Given the description of an element on the screen output the (x, y) to click on. 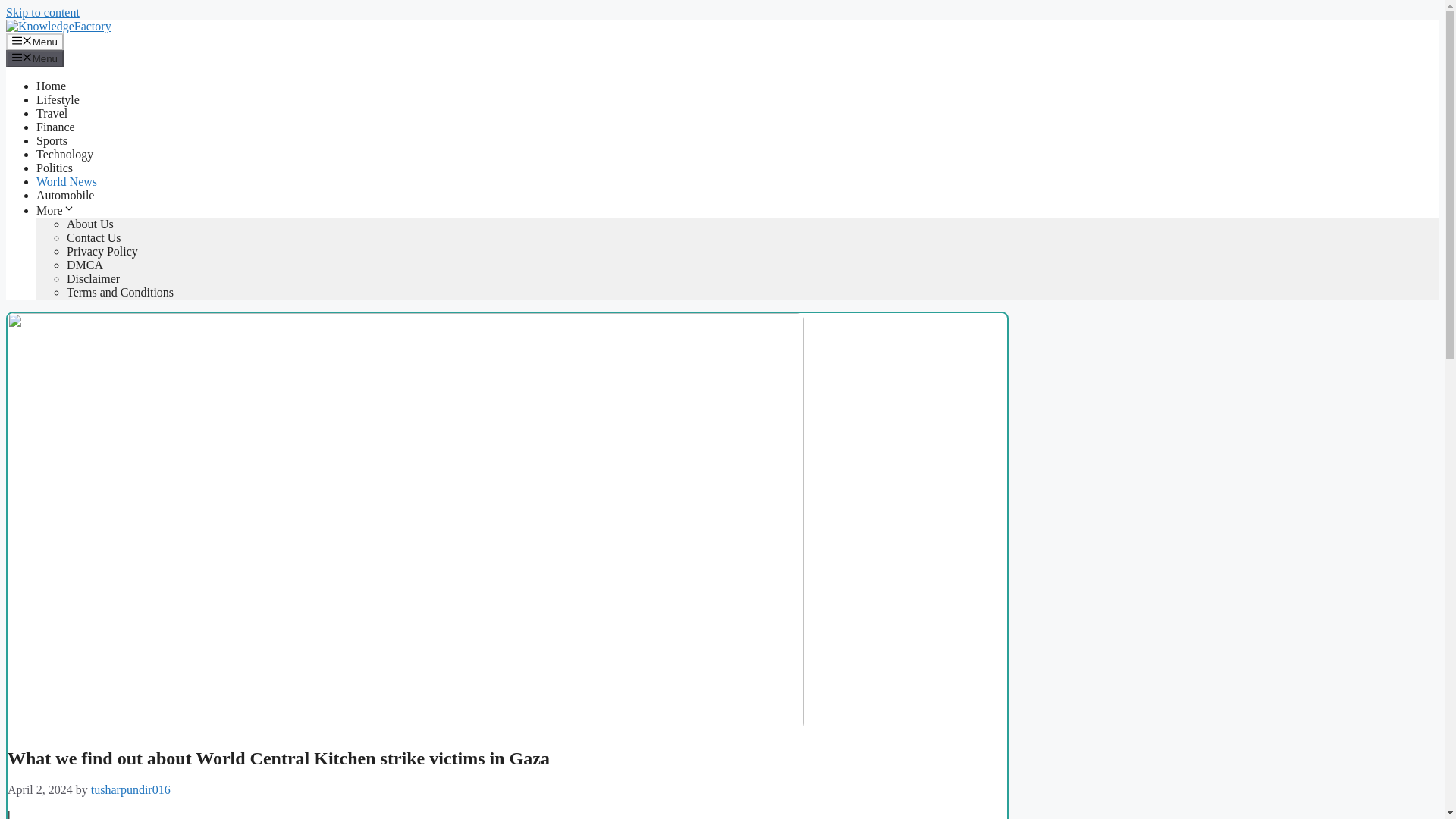
About Us (89, 223)
Terms and Conditions (119, 291)
View all posts by tusharpundir016 (130, 789)
Lifestyle (58, 99)
Travel (51, 113)
Skip to content (42, 11)
Finance (55, 126)
Disclaimer (92, 278)
World News (66, 181)
tusharpundir016 (130, 789)
